Given the description of an element on the screen output the (x, y) to click on. 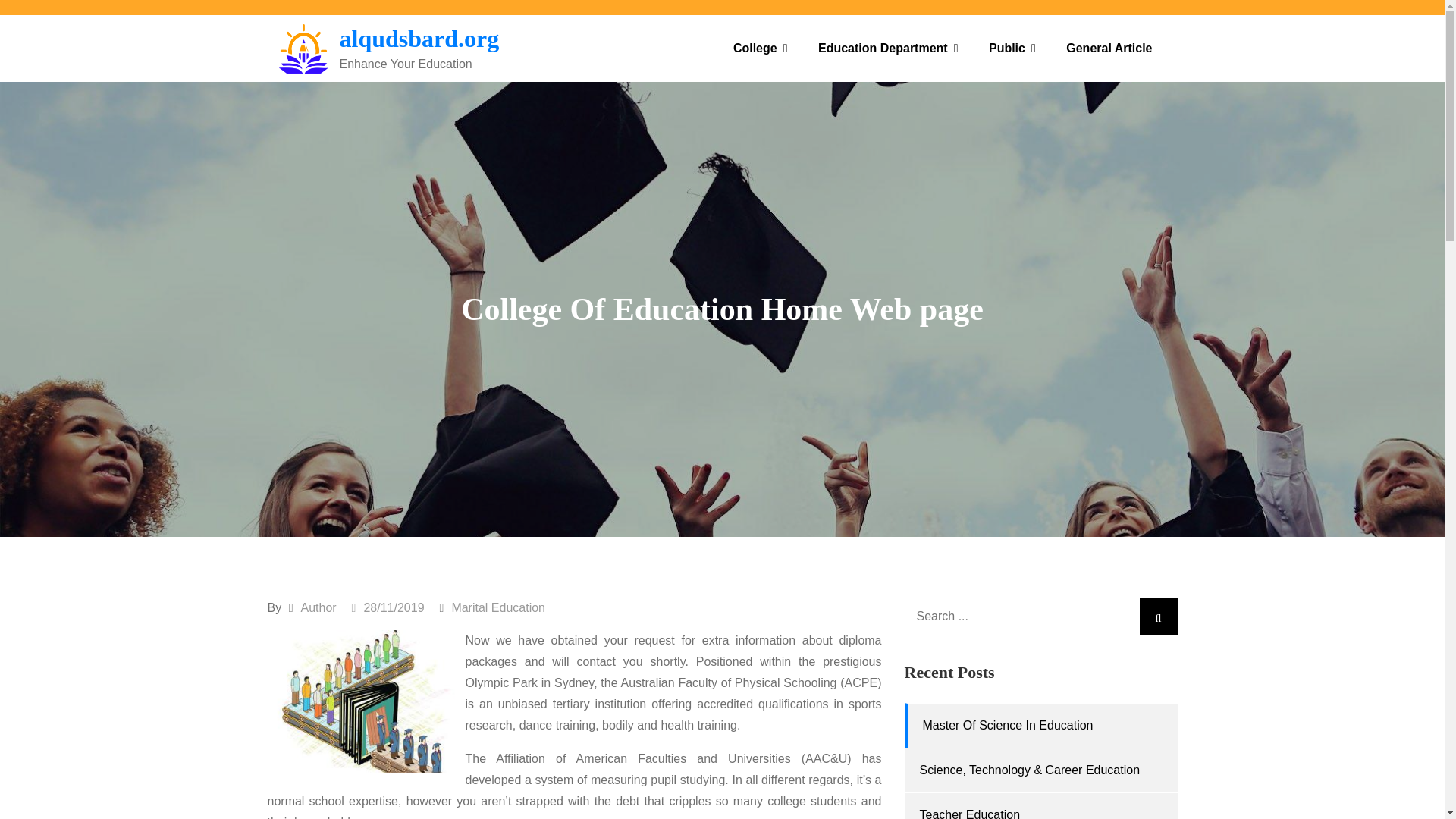
Education Department (888, 48)
Teacher Education (969, 813)
College (760, 48)
alqudsbard.org (419, 38)
Search for: (1040, 616)
Marital Education (497, 607)
Public (1012, 48)
Master Of Science In Education (1007, 725)
Search (1157, 616)
General Article (1109, 48)
Author (317, 607)
